Given the description of an element on the screen output the (x, y) to click on. 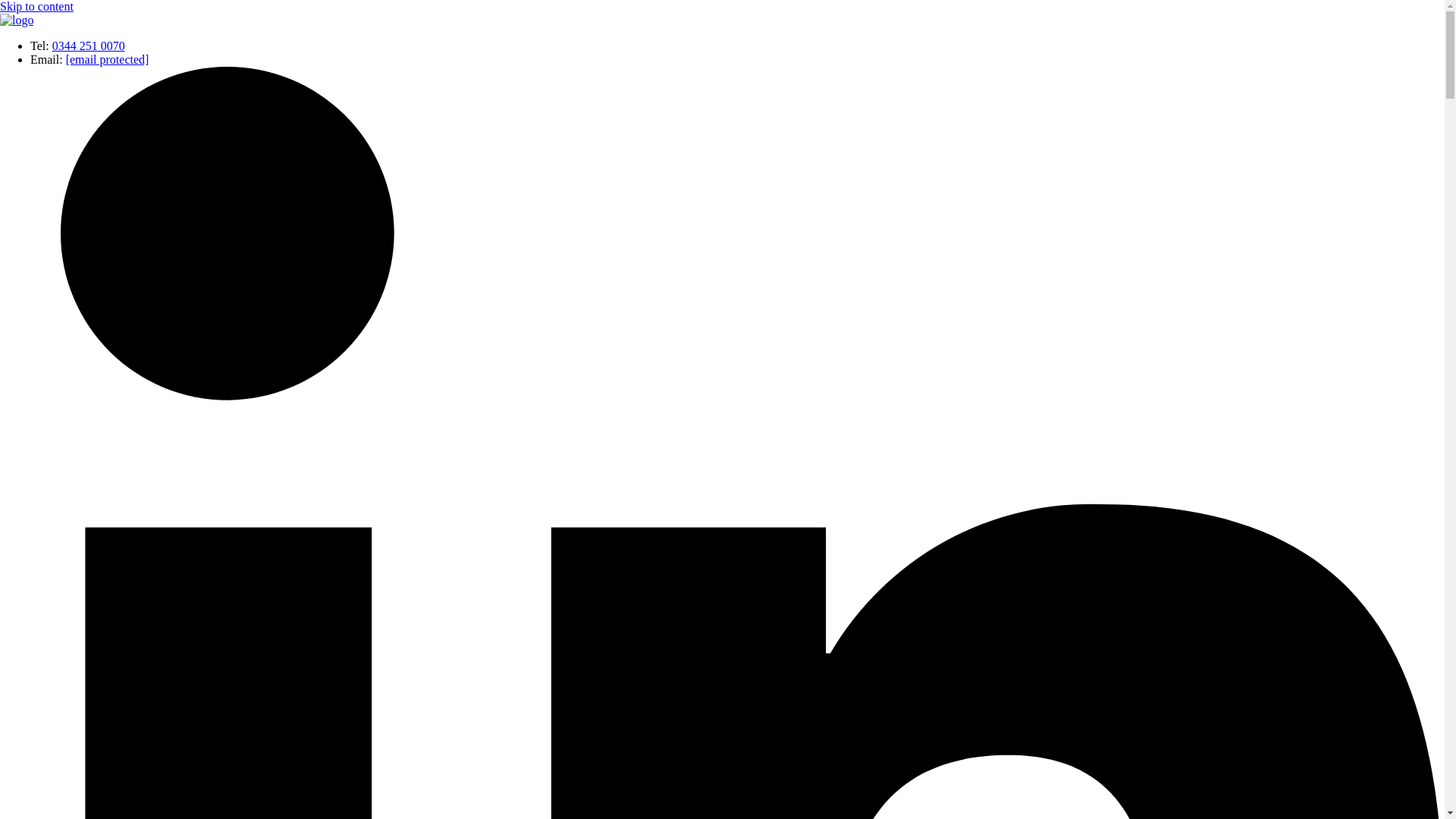
0344 251 0070 (88, 45)
Skip to content (37, 6)
